Given the description of an element on the screen output the (x, y) to click on. 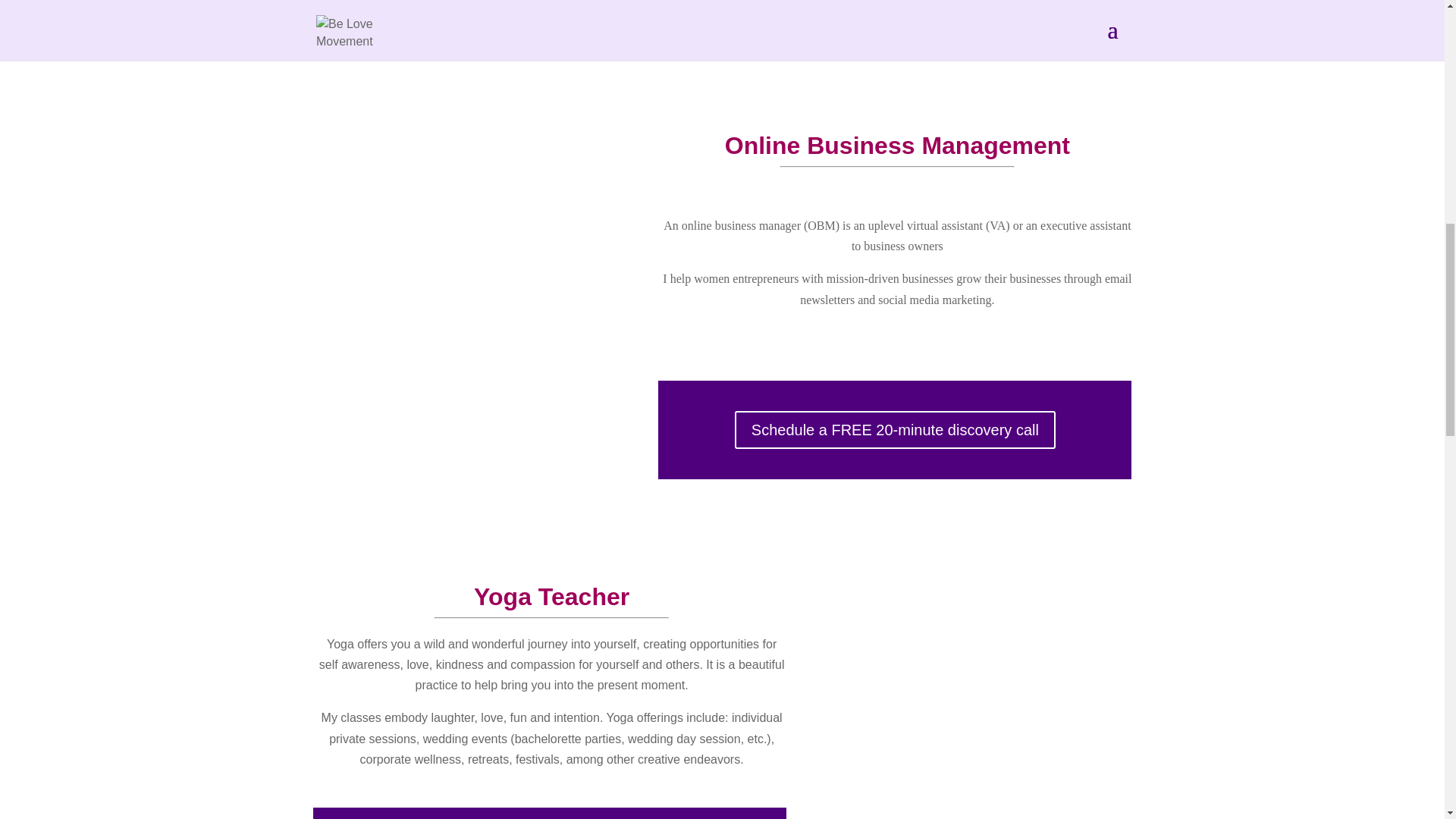
Online Business Management (897, 144)
Yoga Teacher (551, 596)
Schedule a FREE 20-minute discovery call (895, 429)
